Given the description of an element on the screen output the (x, y) to click on. 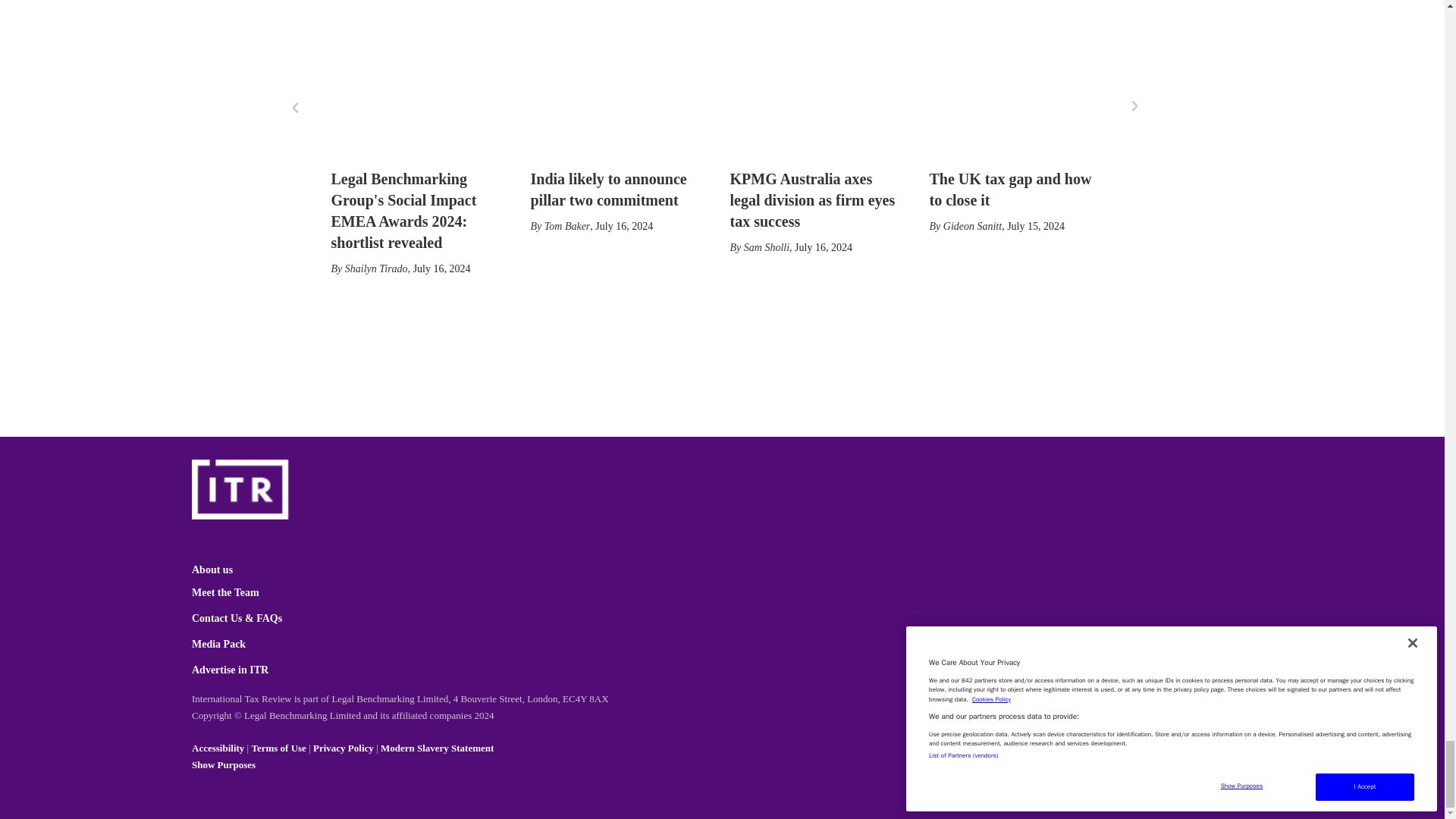
3rd party ad content (715, 341)
